Given the description of an element on the screen output the (x, y) to click on. 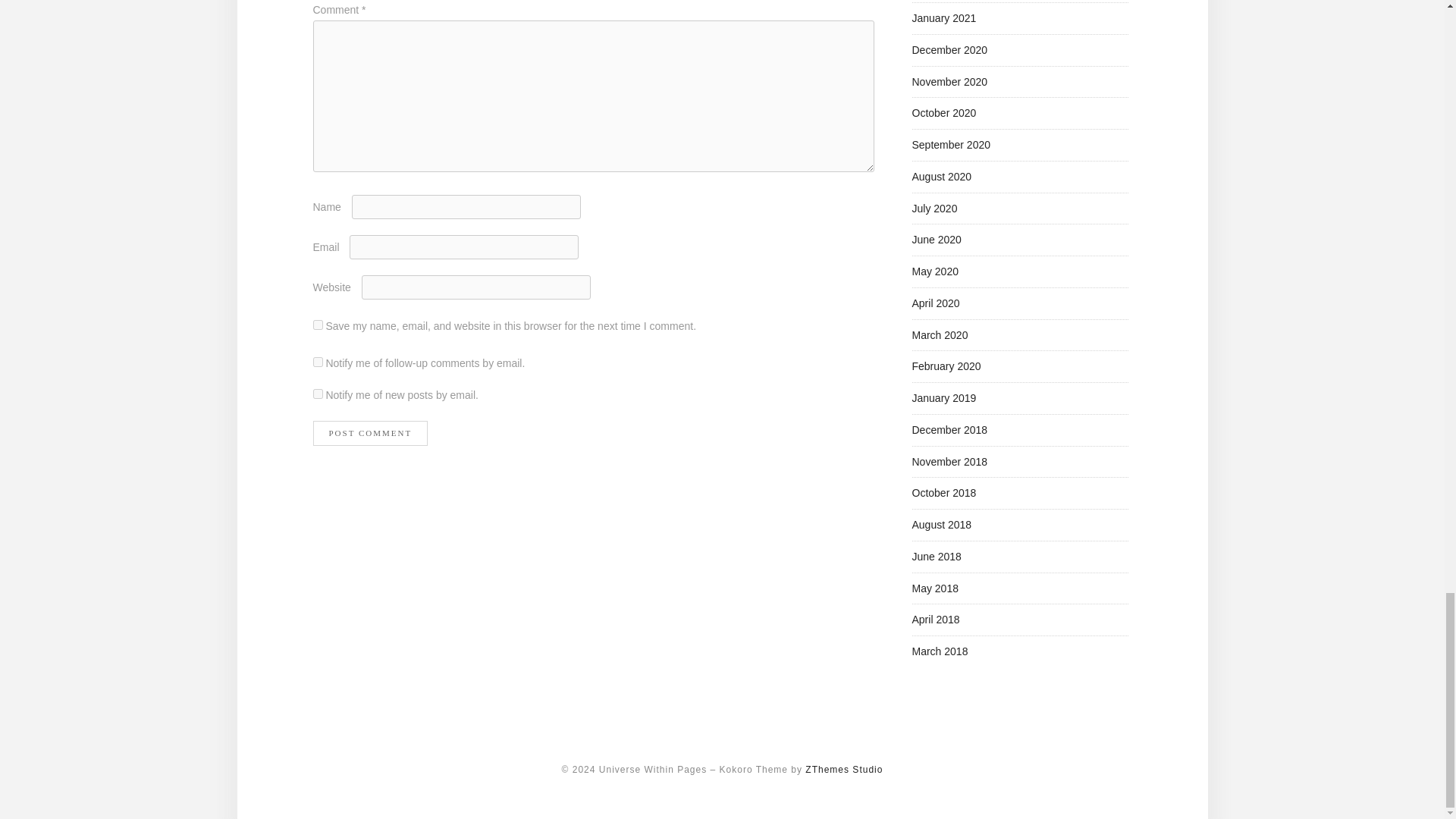
subscribe (317, 361)
yes (317, 325)
Post Comment (370, 432)
Post Comment (370, 432)
subscribe (317, 393)
